Given the description of an element on the screen output the (x, y) to click on. 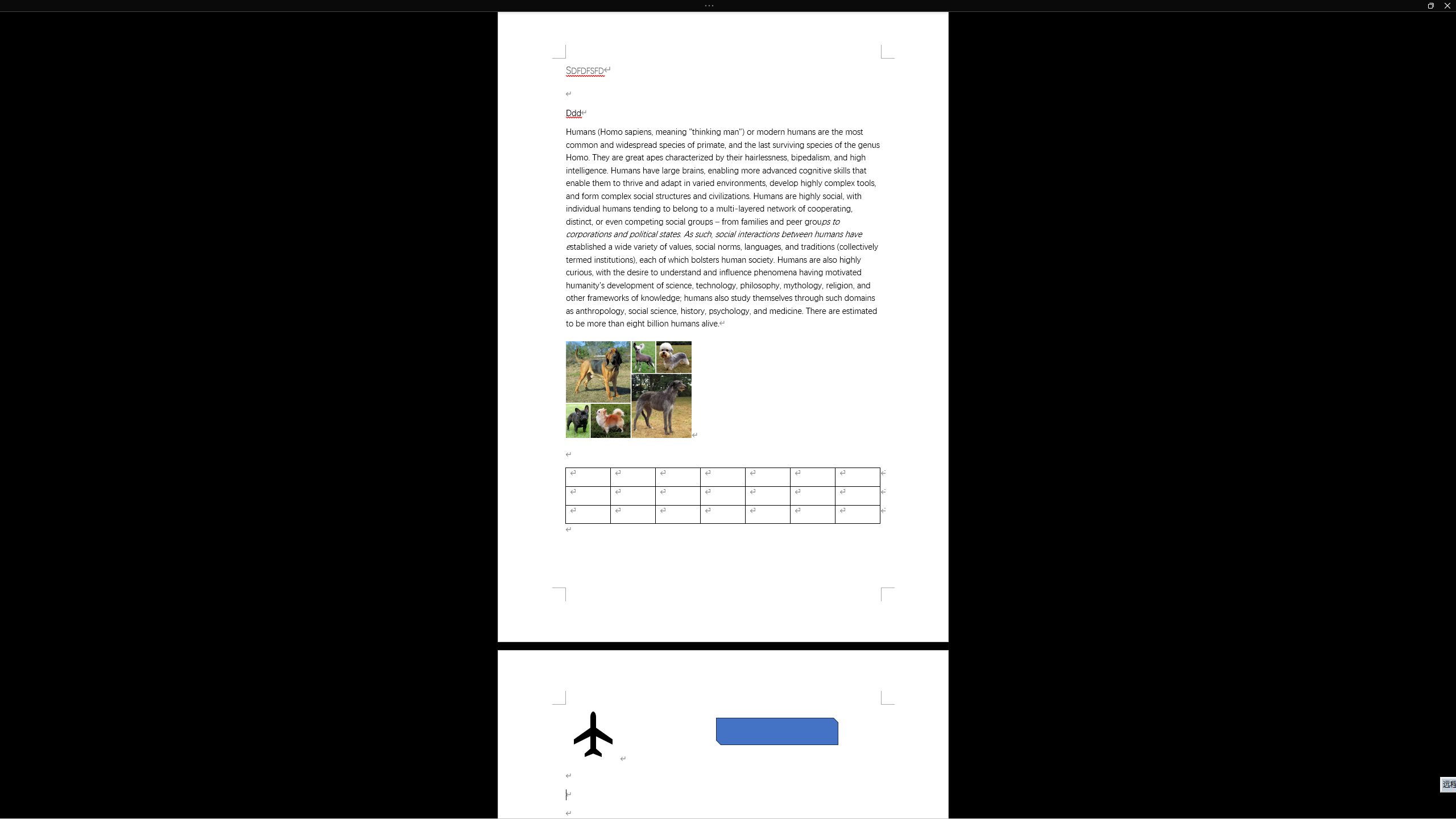
Page 2 content (723, 761)
Airplane with solid fill (593, 733)
Rectangle: Diagonal Corners Snipped 2 (777, 731)
Class: NetUIAnchor (728, 5)
Show the Ribbon (711, 5)
Morphological variation in six dogs (628, 389)
Page 1 content (723, 322)
